Given the description of an element on the screen output the (x, y) to click on. 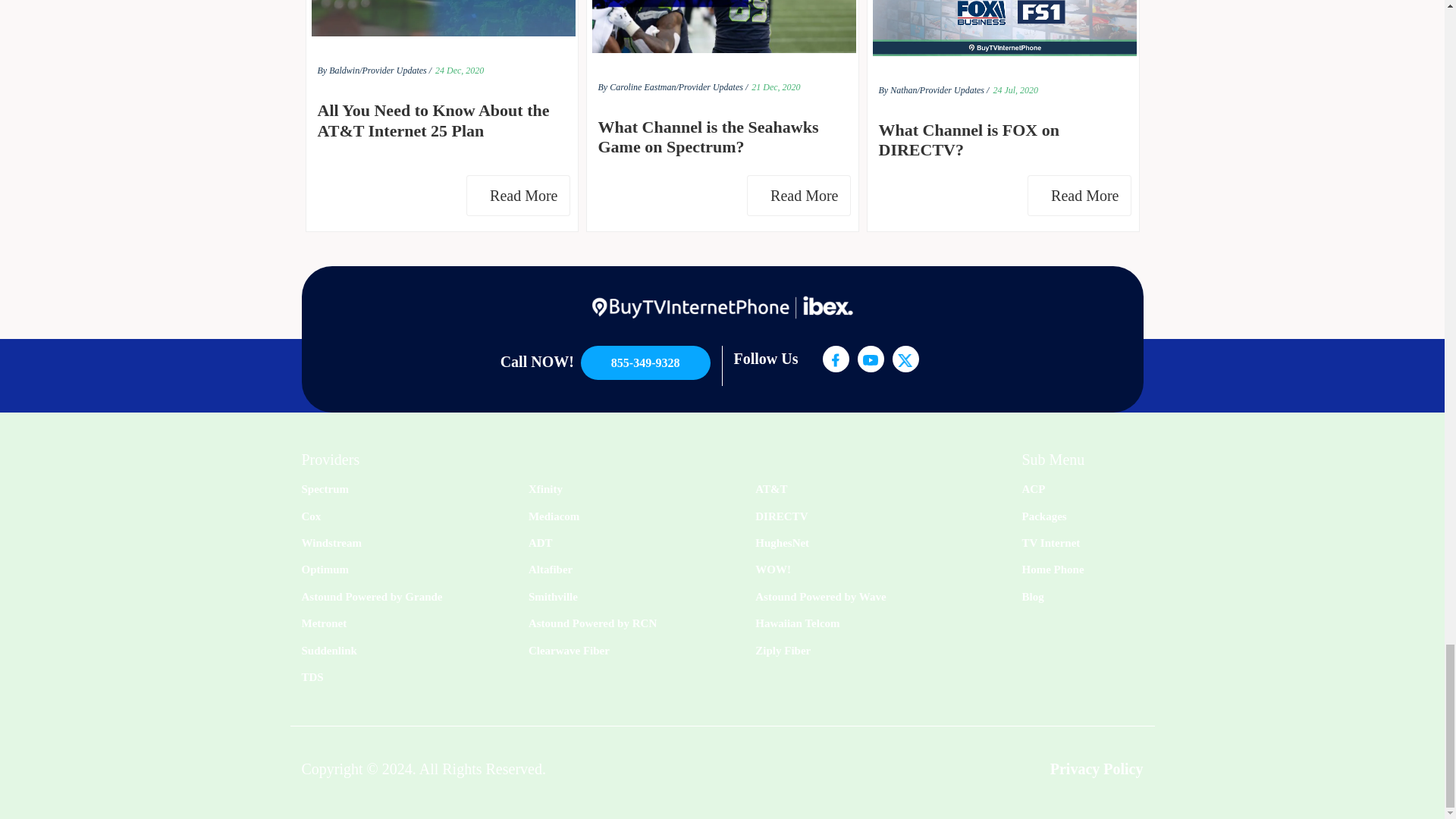
Read More   (798, 195)
What Channel is the Seahawks Game on Spectrum? (720, 137)
Read More   (517, 195)
